Given the description of an element on the screen output the (x, y) to click on. 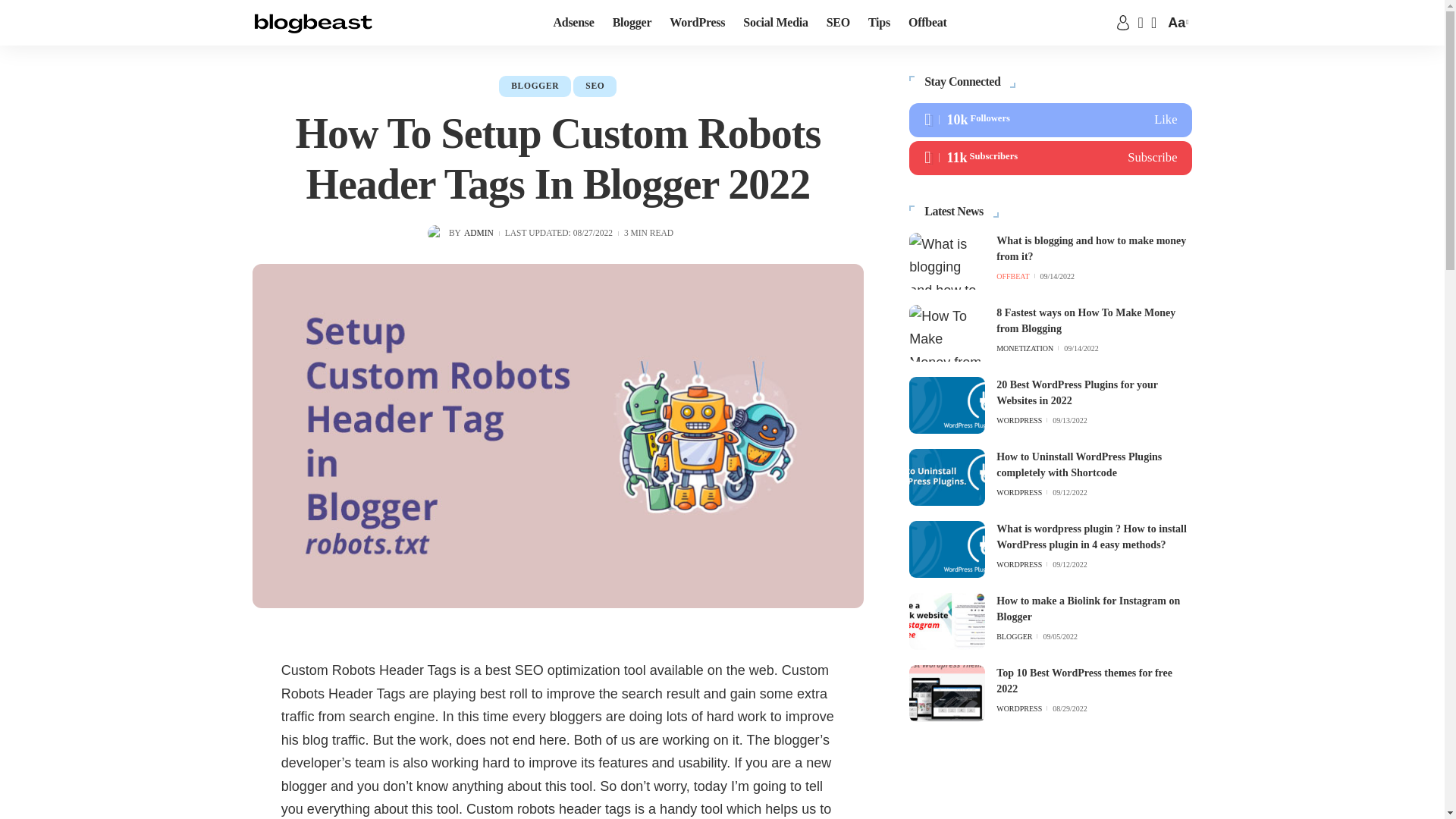
ADMIN (478, 233)
How to Uninstall WordPress Plugins completely with Shortcode (946, 477)
WordPress (697, 22)
Aa (1175, 23)
Adsense (572, 22)
SEO (594, 86)
20 Best WordPress Plugins for your Websites in 2022 (946, 405)
Blogger (632, 22)
Offbeat (927, 22)
Top 10 Best WordPress themes for free 2022 (946, 693)
8 Fastest ways on How To Make Money from Blogging (946, 332)
What is blogging and how to make money from it? (946, 260)
BLOGGER (534, 86)
How to make a Biolink for Instagram on Blogger (946, 621)
Social Media (774, 22)
